Given the description of an element on the screen output the (x, y) to click on. 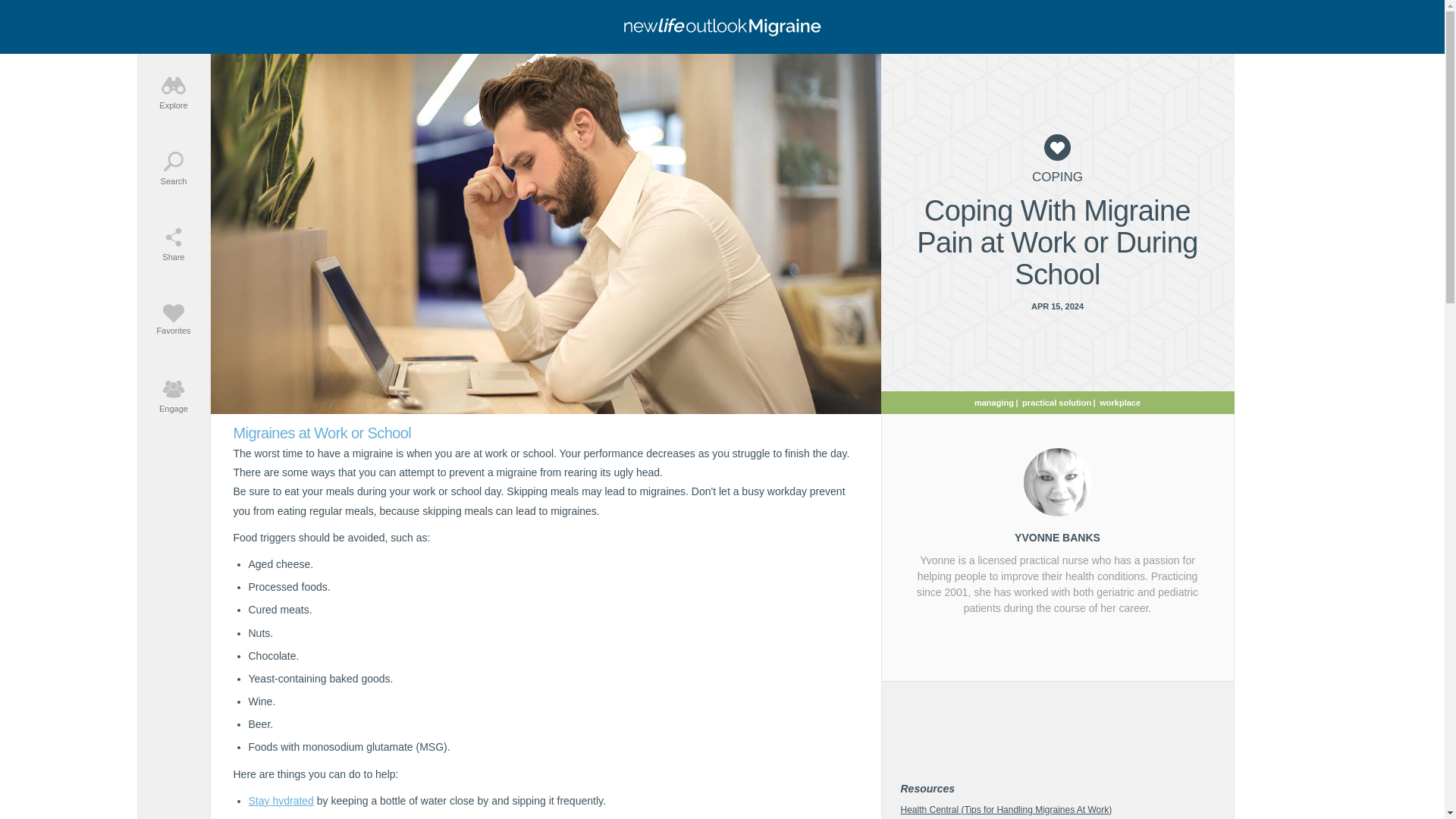
managing (993, 401)
workplace (1119, 401)
Using Medication to Safely Treat Migraine Pain (130, 513)
Search (173, 167)
COPING (1057, 177)
Engage (173, 395)
practical solution (1056, 401)
Should You go to the Emergency Room for a Migraine? (31, 513)
read more (152, 358)
Bonnie Zink (107, 682)
practical solution (152, 585)
Migraines Pain Medicines (29, 592)
Bonnie Zink (107, 731)
Favorites (61, 358)
